Given the description of an element on the screen output the (x, y) to click on. 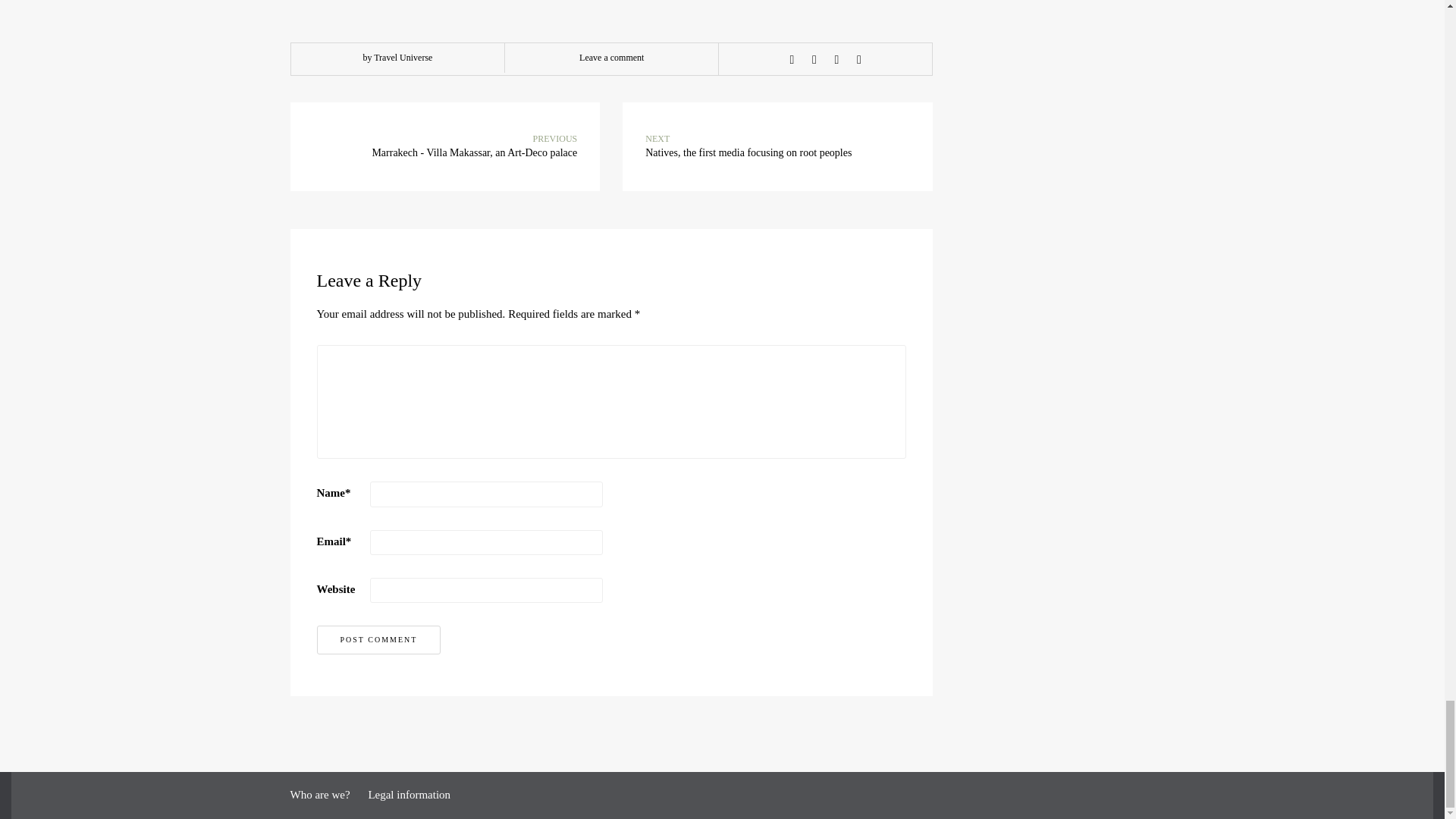
Share with Google Plus (836, 60)
Post comment (379, 639)
Pin this (858, 60)
Tweet this (814, 60)
Share this (791, 60)
